Given the description of an element on the screen output the (x, y) to click on. 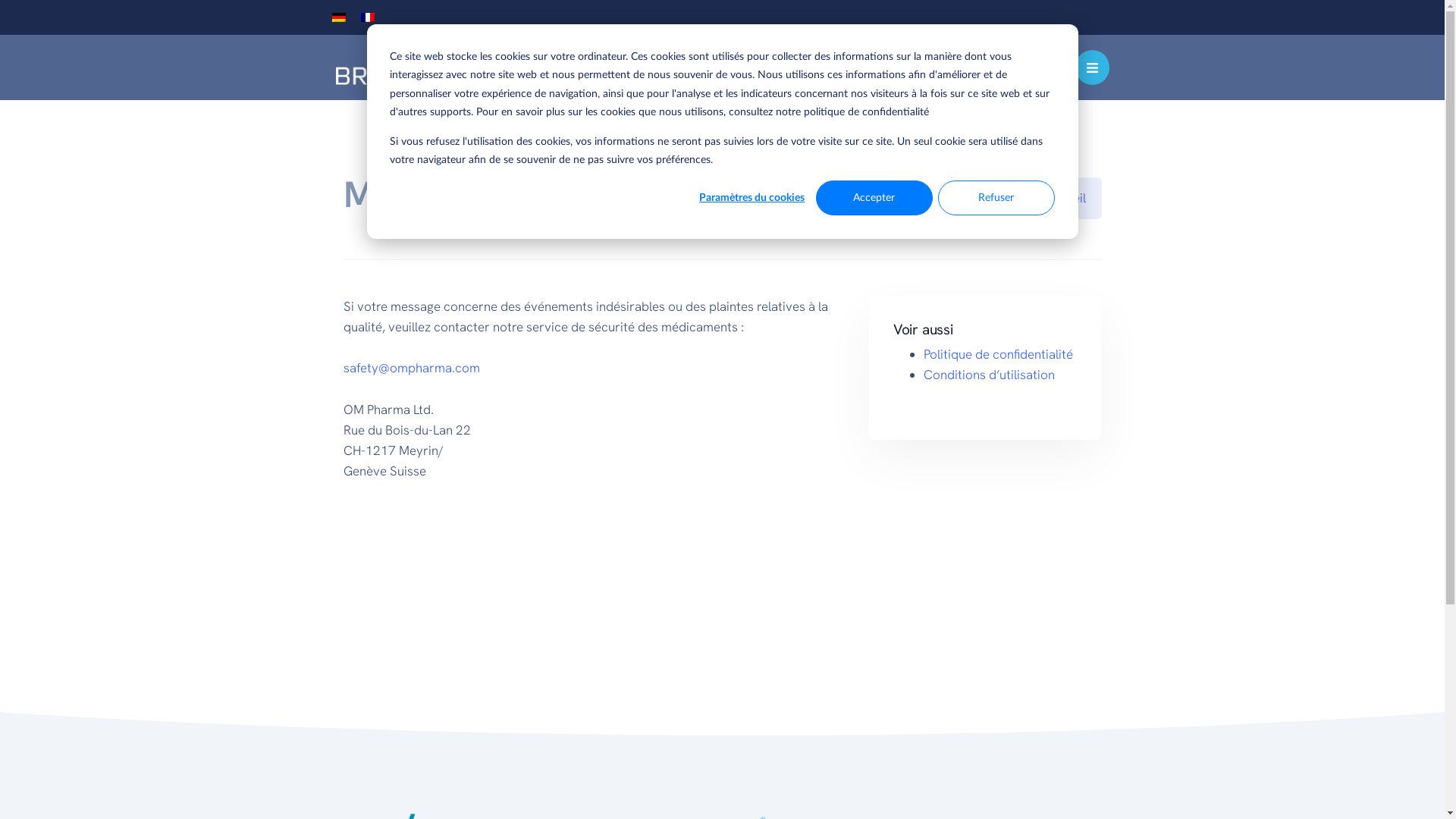
safety@ompharma.com Element type: text (410, 367)
FR Element type: hover (367, 16)
Refuser Element type: text (996, 197)
DE Element type: hover (338, 16)
Accepter Element type: text (873, 197)
